Given the description of an element on the screen output the (x, y) to click on. 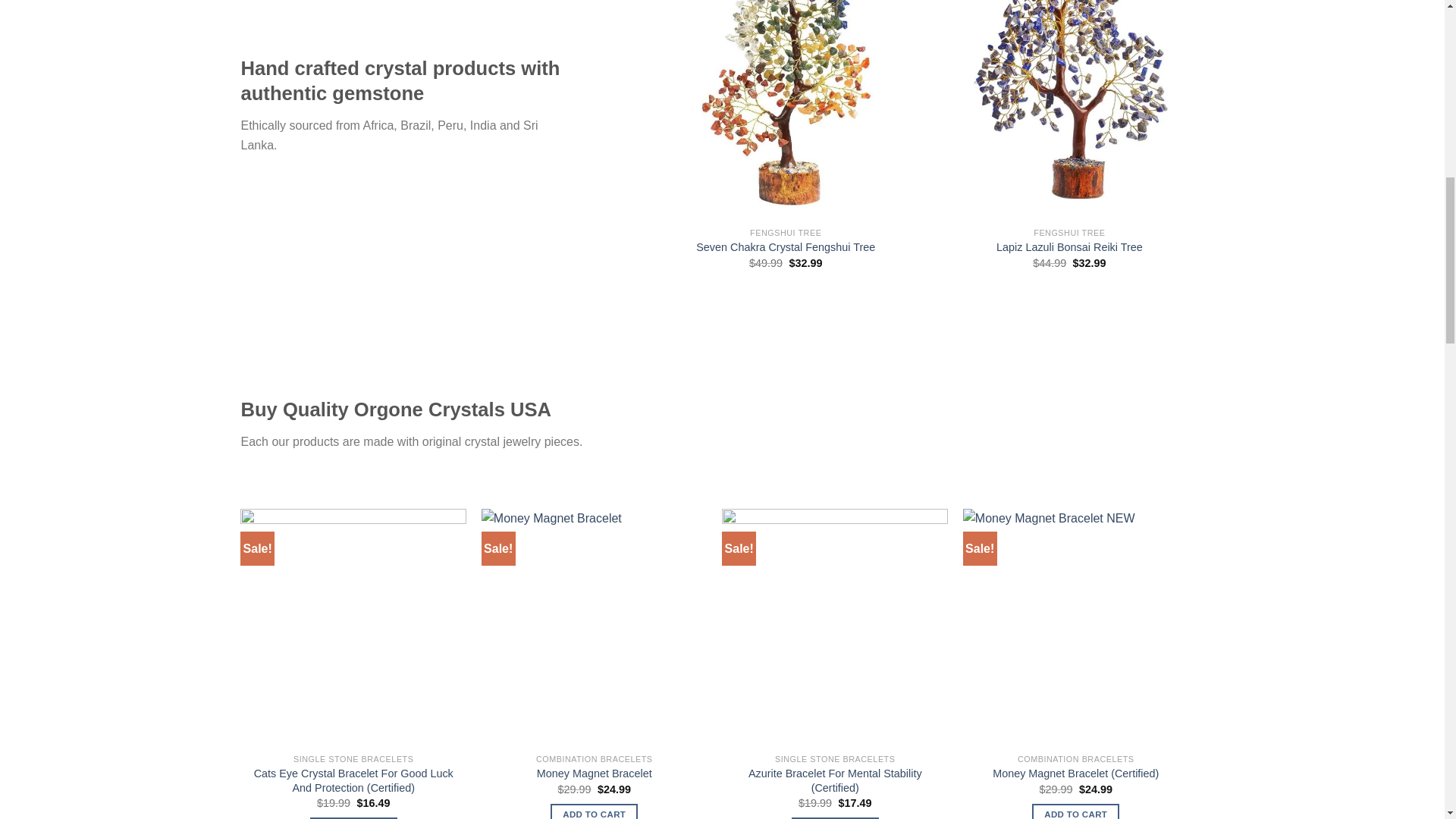
Tiger Eye Fengshui Tree (1353, 247)
Seven Chakra Crystal Fengshui Tree (785, 247)
Lapiz Lazuli Bonsai Reiki Tree (1068, 247)
